Given the description of an element on the screen output the (x, y) to click on. 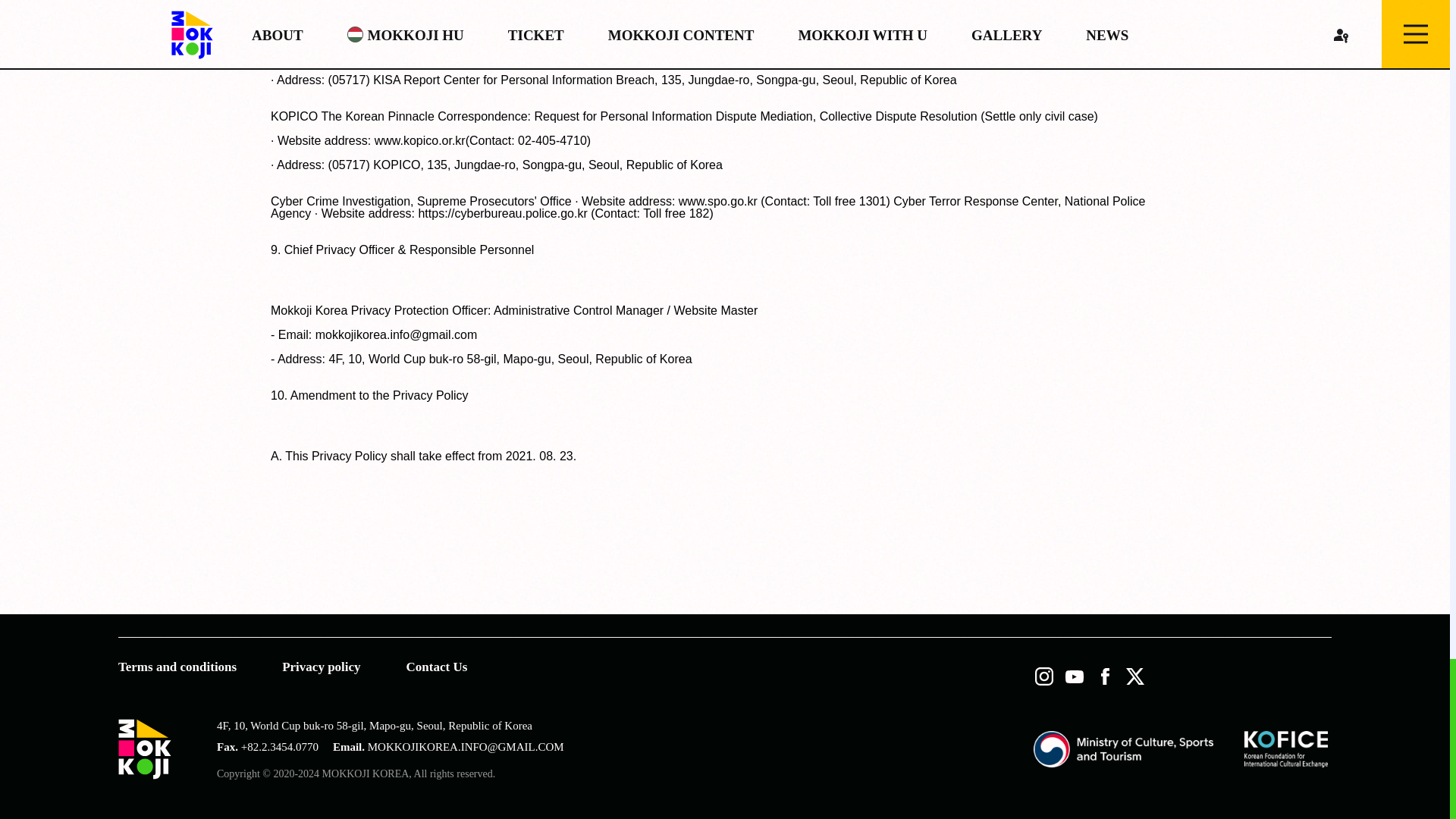
Shortcut to a new window (1286, 749)
Shortcut to a new window (1123, 749)
Shortcut to a new window (1104, 676)
Shortcut to a new window (1134, 676)
Shortcut to a new window (1044, 676)
Shortcut to a new window (1074, 676)
